Given the description of an element on the screen output the (x, y) to click on. 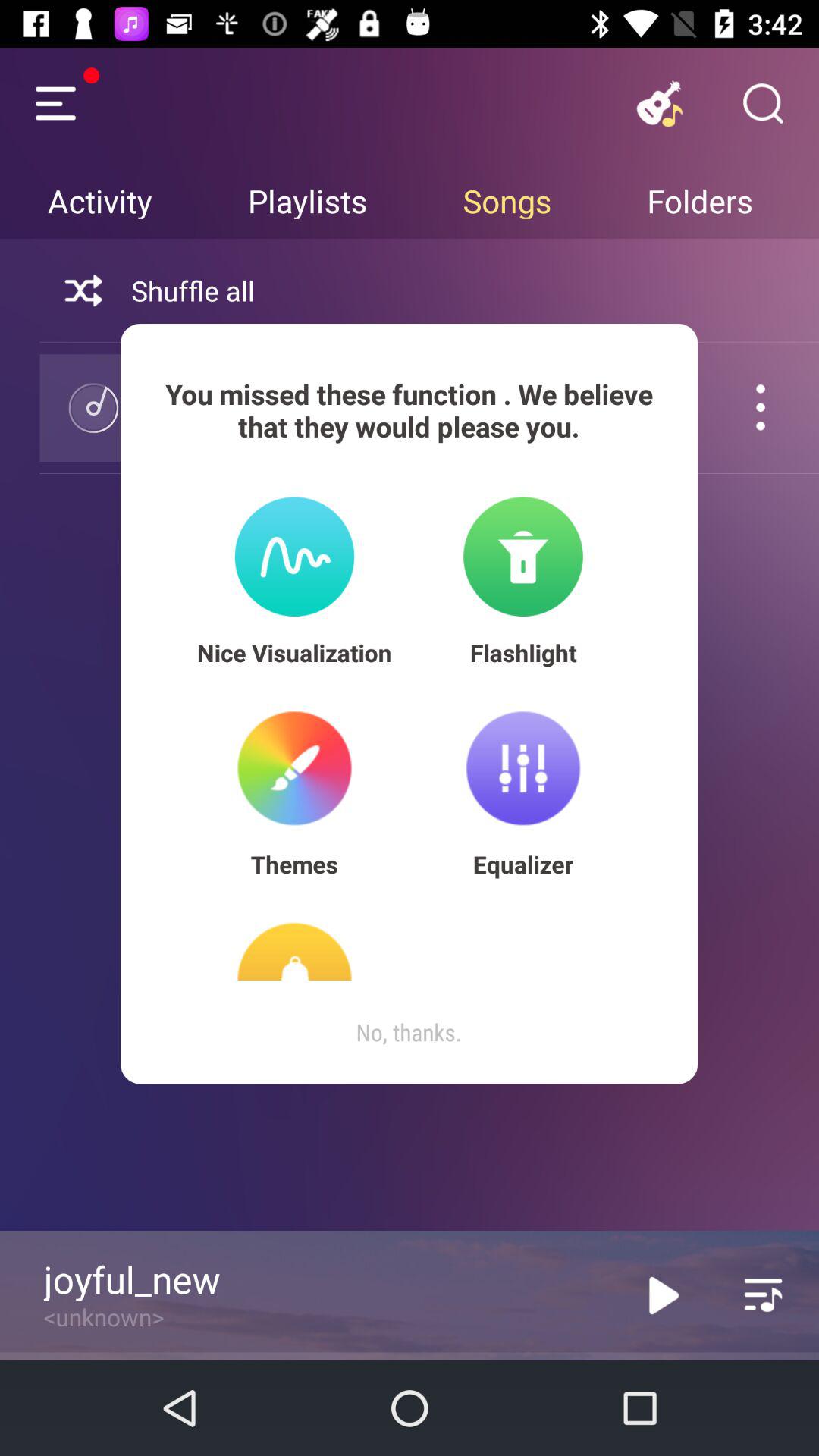
tap the icon next to equalizer app (294, 864)
